Given the description of an element on the screen output the (x, y) to click on. 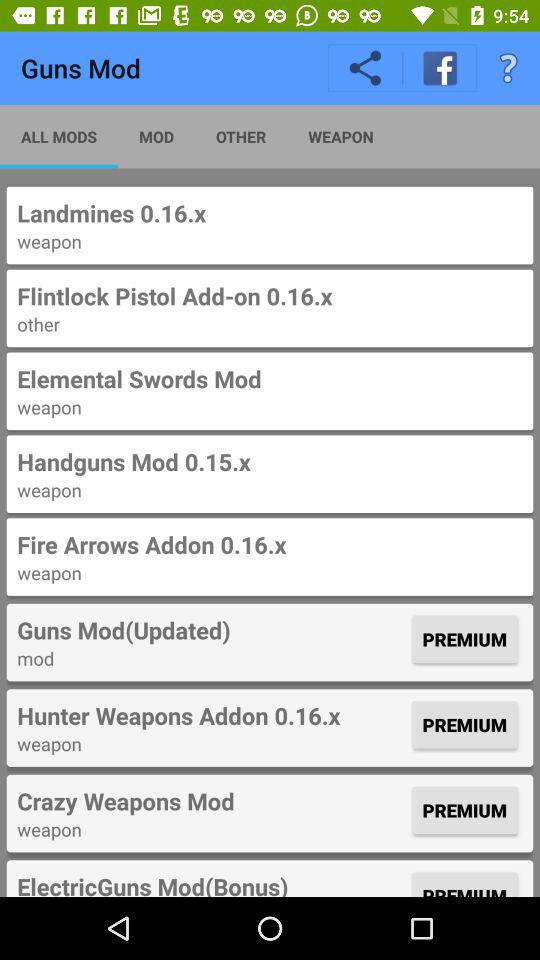
tap the item above weapon (269, 378)
